Given the description of an element on the screen output the (x, y) to click on. 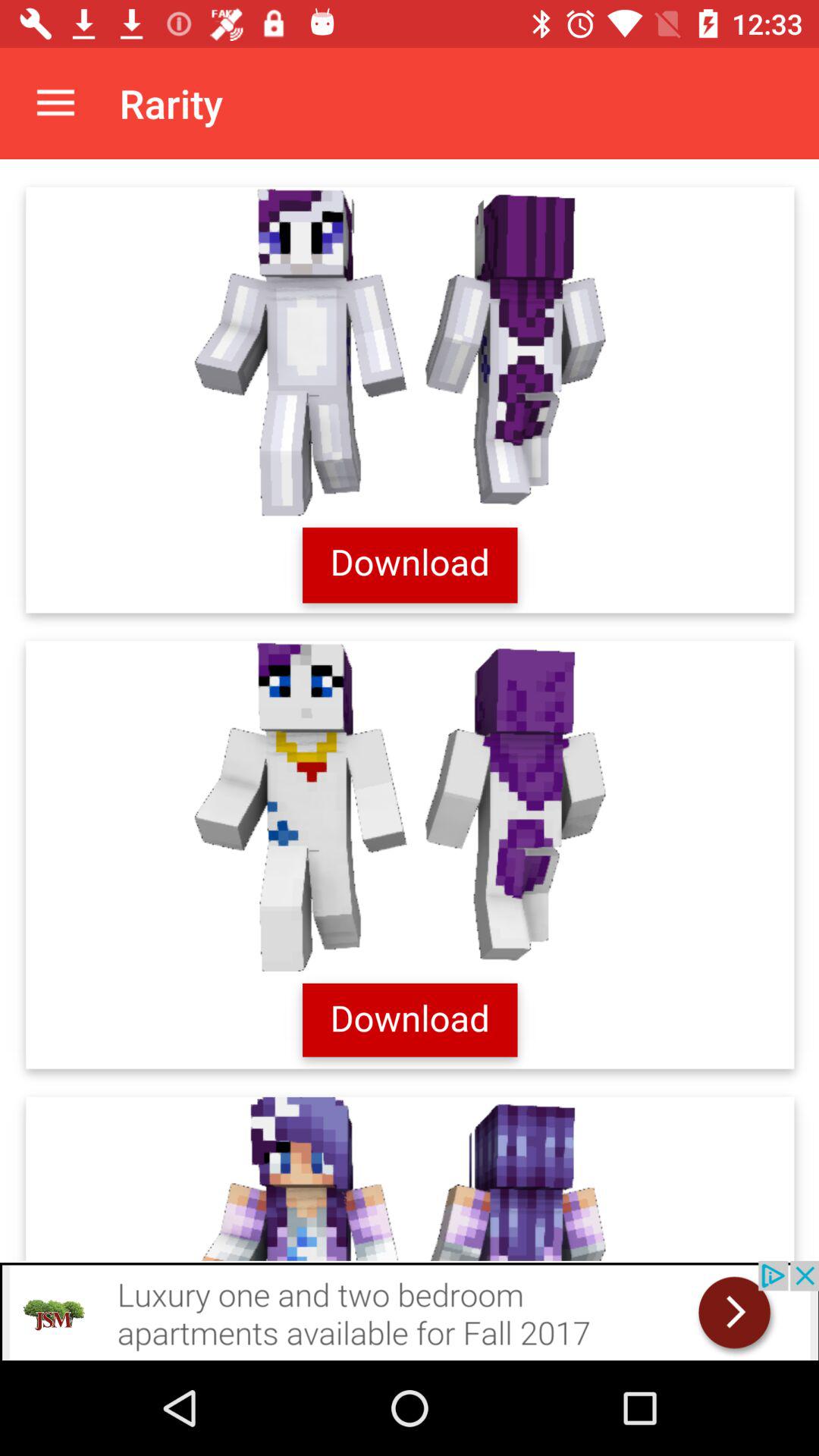
click to download (409, 709)
